Given the description of an element on the screen output the (x, y) to click on. 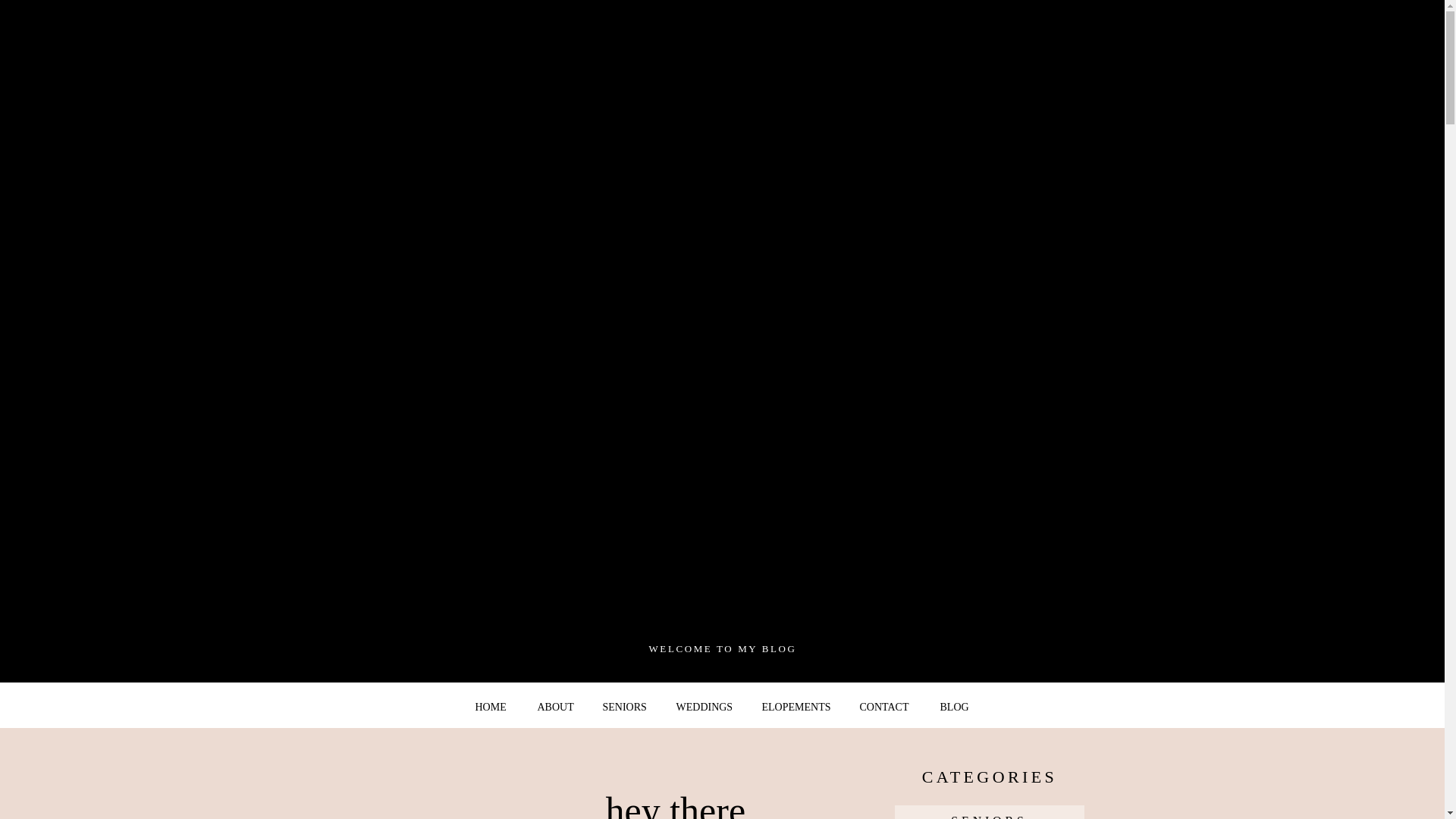
ABOUT (556, 707)
SENIORS (626, 707)
CONTACT (887, 707)
HOME (491, 707)
BLOG (956, 707)
ELOPEMENTS (796, 707)
SENIORS (989, 814)
WEDDINGS (706, 707)
